Given the description of an element on the screen output the (x, y) to click on. 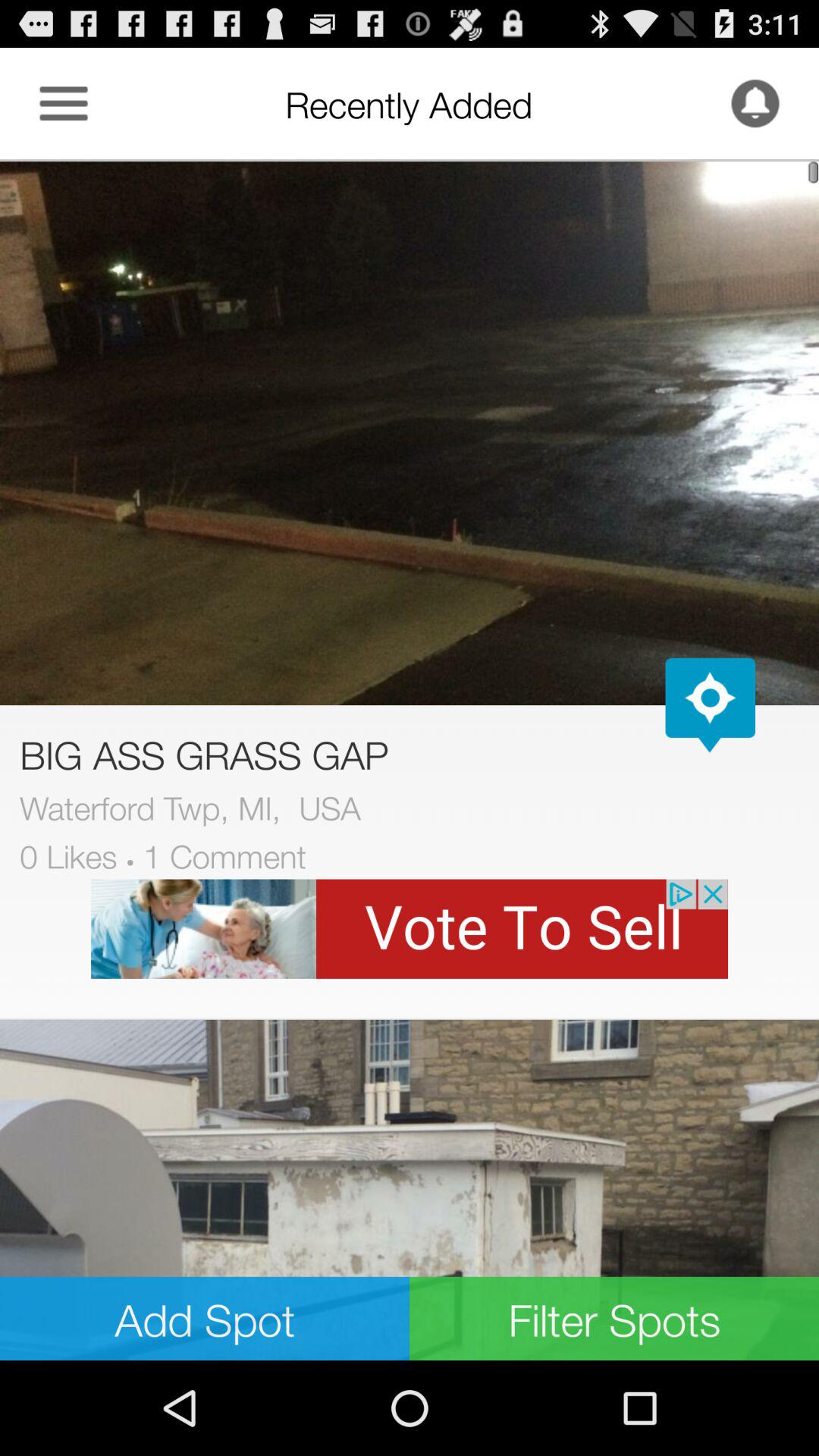
visit advertisement website (409, 928)
